Given the description of an element on the screen output the (x, y) to click on. 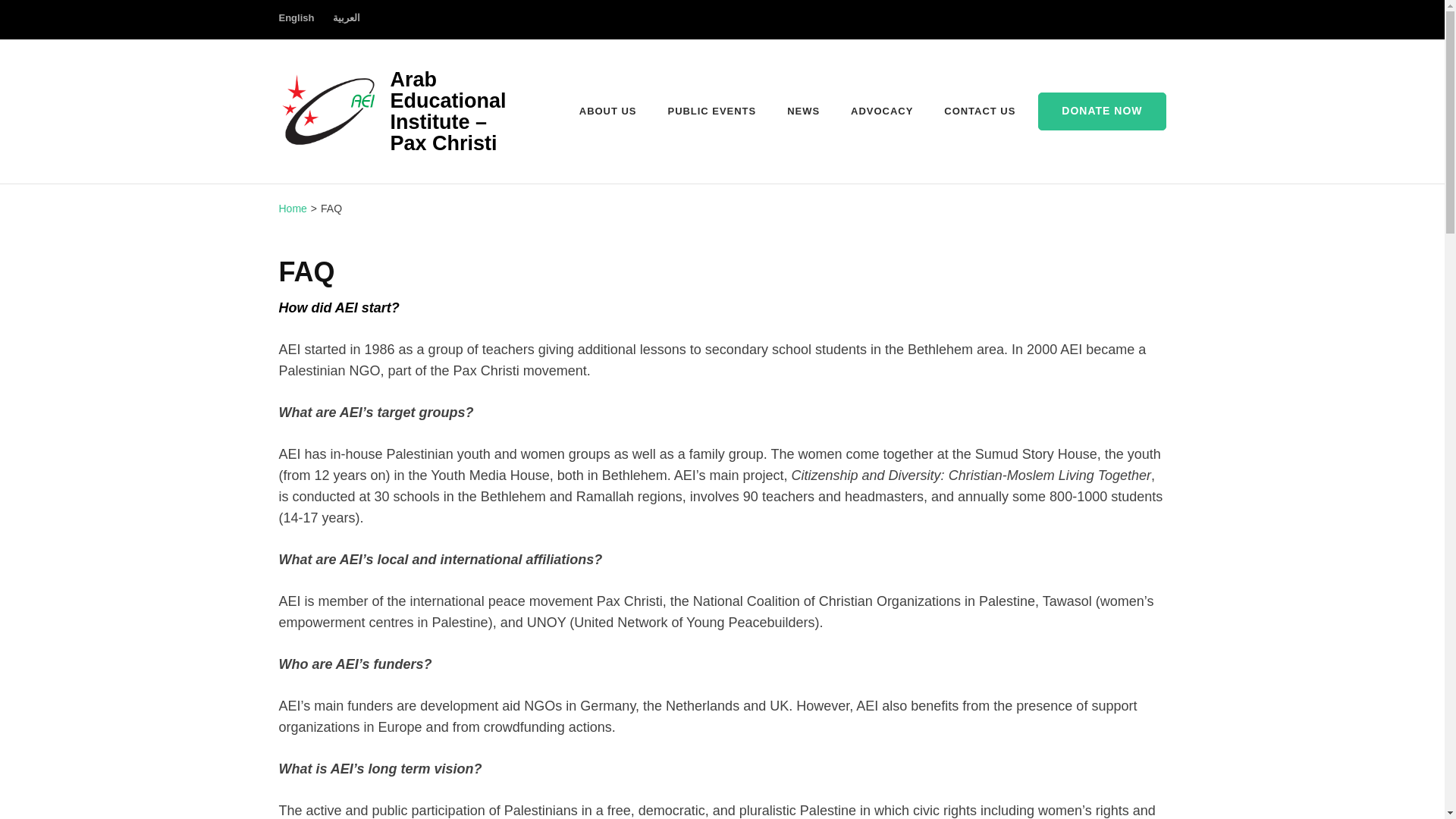
English (296, 25)
ABOUT US (608, 111)
